Given the description of an element on the screen output the (x, y) to click on. 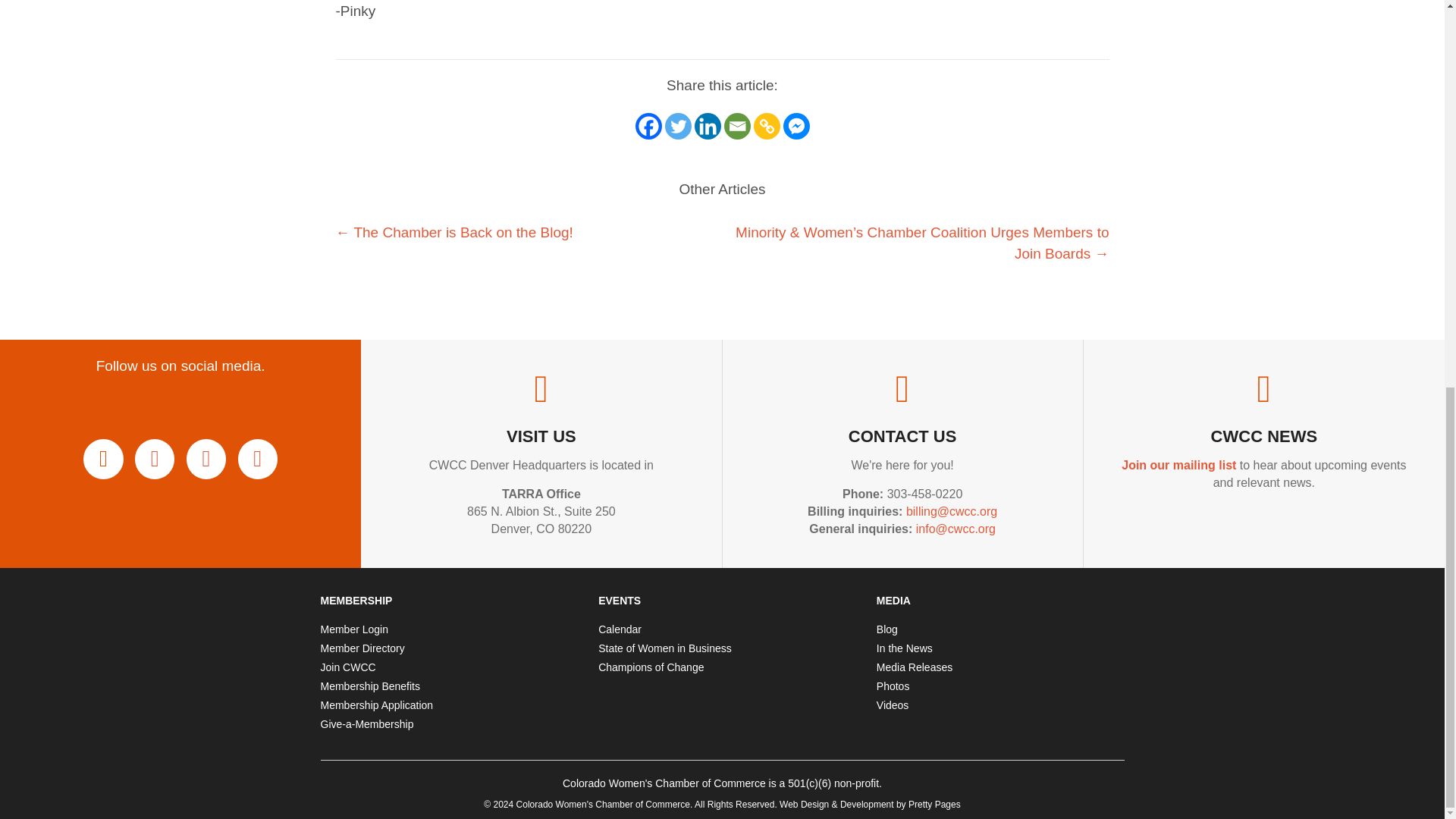
Facebook (648, 126)
Copy Link (767, 126)
Twitter (676, 126)
Linkedin (707, 126)
Email (736, 126)
